Given the description of an element on the screen output the (x, y) to click on. 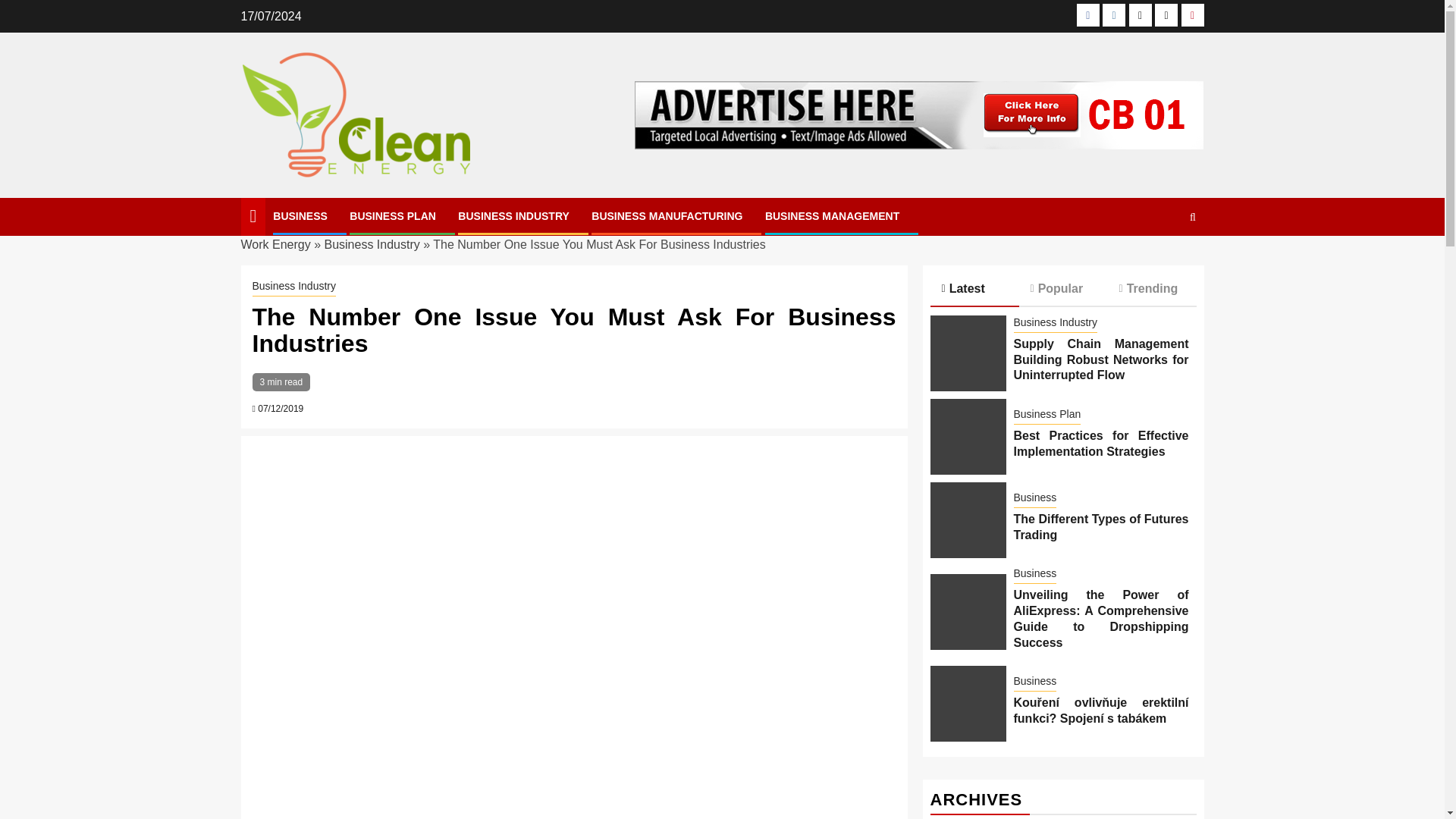
BUSINESS PLAN (392, 215)
BUSINESS INDUSTRY (513, 215)
Trending (1150, 288)
Business Industry (371, 244)
Popular (1063, 288)
Best Practices for Effective Implementation Strategies (968, 436)
Search (1163, 262)
Pinterest (1192, 15)
BUSINESS MANUFACTURING (666, 215)
TikTok (1165, 15)
Facebook (1088, 15)
Business Industry (293, 287)
Work Energy (276, 244)
